Given the description of an element on the screen output the (x, y) to click on. 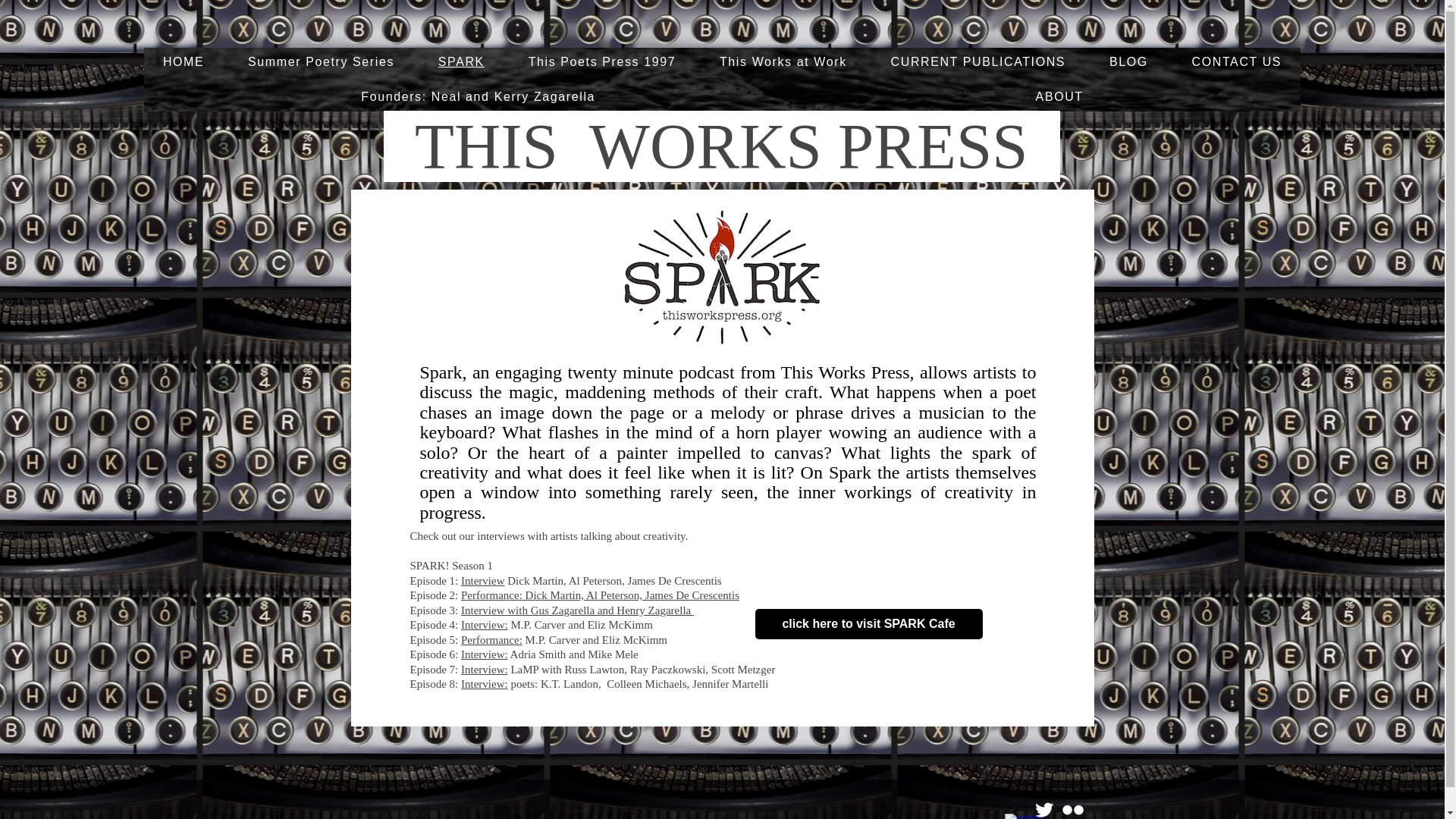
Interview: (484, 624)
BLOG (1128, 61)
CURRENT PUBLICATIONS (978, 61)
Interview: (484, 669)
HOME (183, 61)
Interview with Gus Zagarella and Henry Zagarella  (577, 610)
This Poets Press 1997 (601, 61)
ABOUT (1059, 96)
CONTACT US (1236, 61)
Interview: (484, 654)
